Given the description of an element on the screen output the (x, y) to click on. 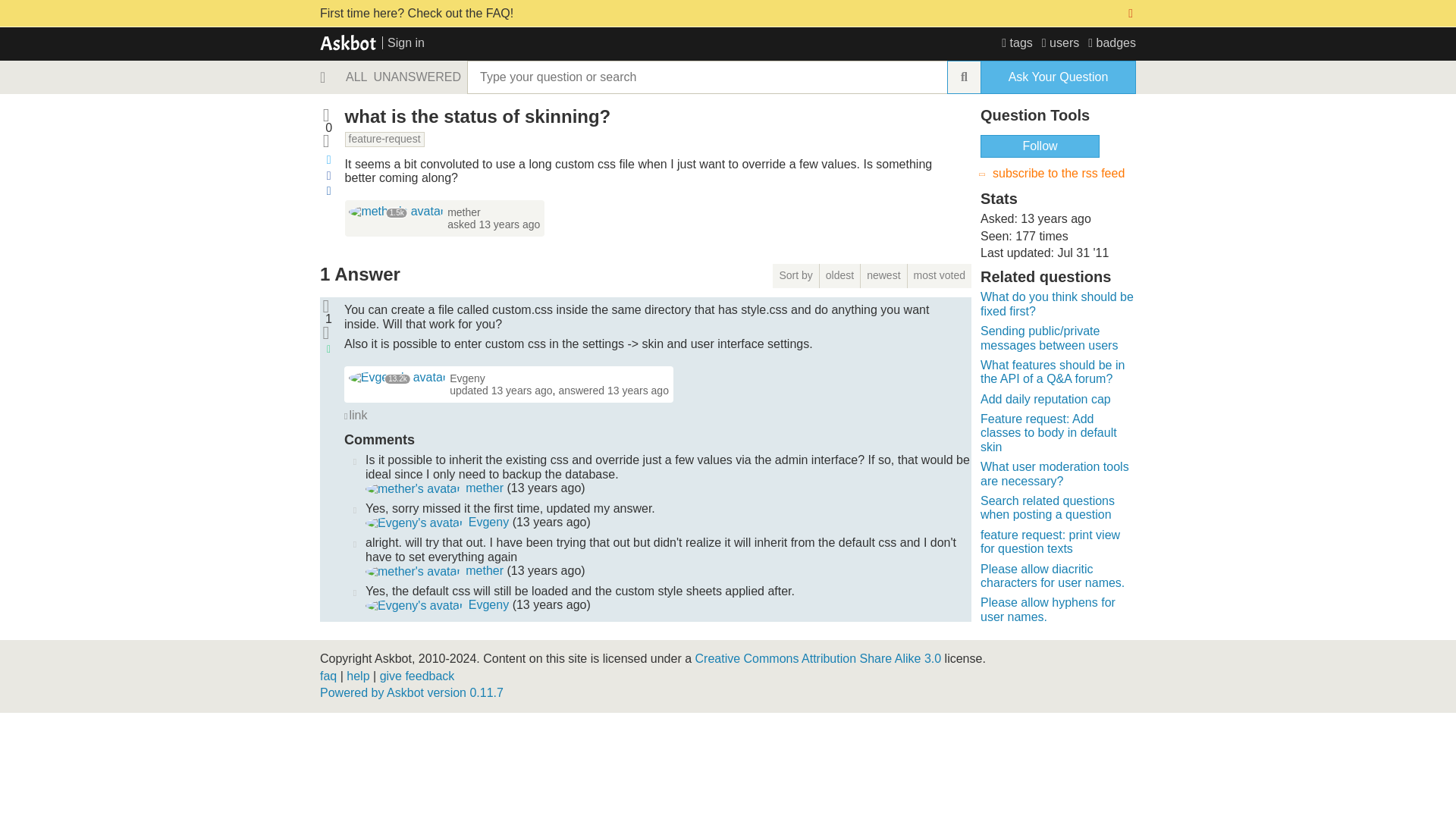
feature-request (385, 139)
upvote comment (354, 508)
badges (1111, 42)
Evgeny (414, 522)
link (354, 415)
2011-07-31 13:39:31 -0500 (637, 390)
13.2k (397, 377)
Evgeny (397, 377)
updated 13 years ago (500, 390)
answered 13 years ago (612, 390)
